Given the description of an element on the screen output the (x, y) to click on. 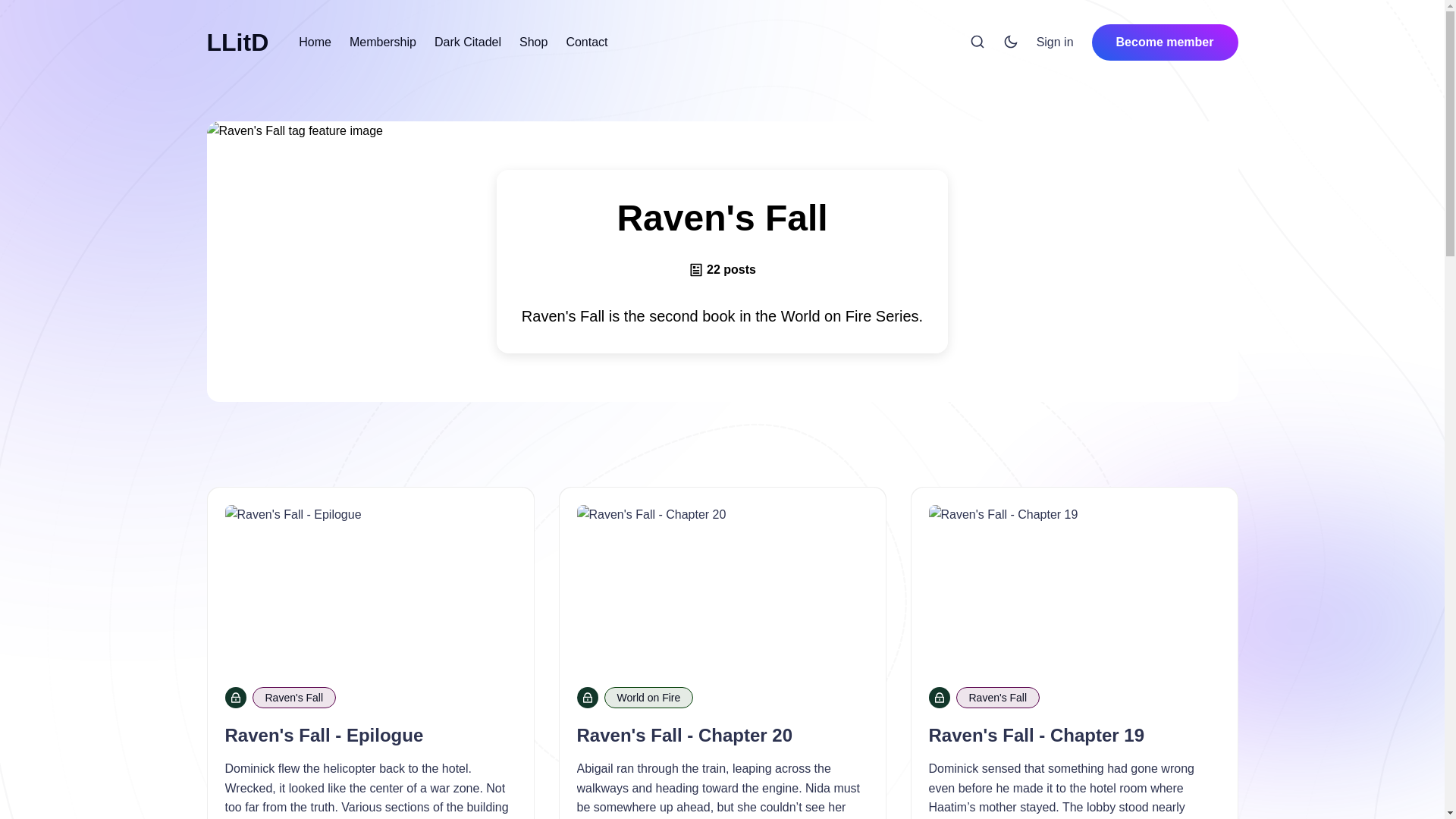
Raven's Fall - Chapter 20 (684, 734)
Raven's Fall (997, 697)
Home (314, 42)
Dark Citadel (466, 42)
Raven's Fall (293, 697)
Raven's Fall - Epilogue (323, 734)
Contact (586, 42)
Membership (382, 42)
Become member (1165, 42)
Raven's Fall - Chapter 19 (1035, 734)
World on Fire (648, 697)
Shop (533, 42)
LLitD (236, 42)
Sign in (1055, 42)
